Given the description of an element on the screen output the (x, y) to click on. 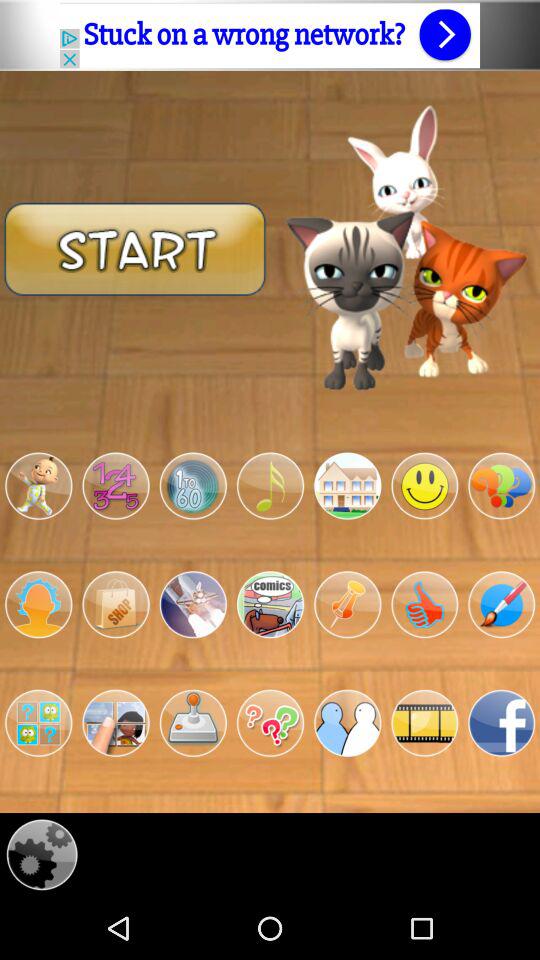
open help (270, 723)
